Given the description of an element on the screen output the (x, y) to click on. 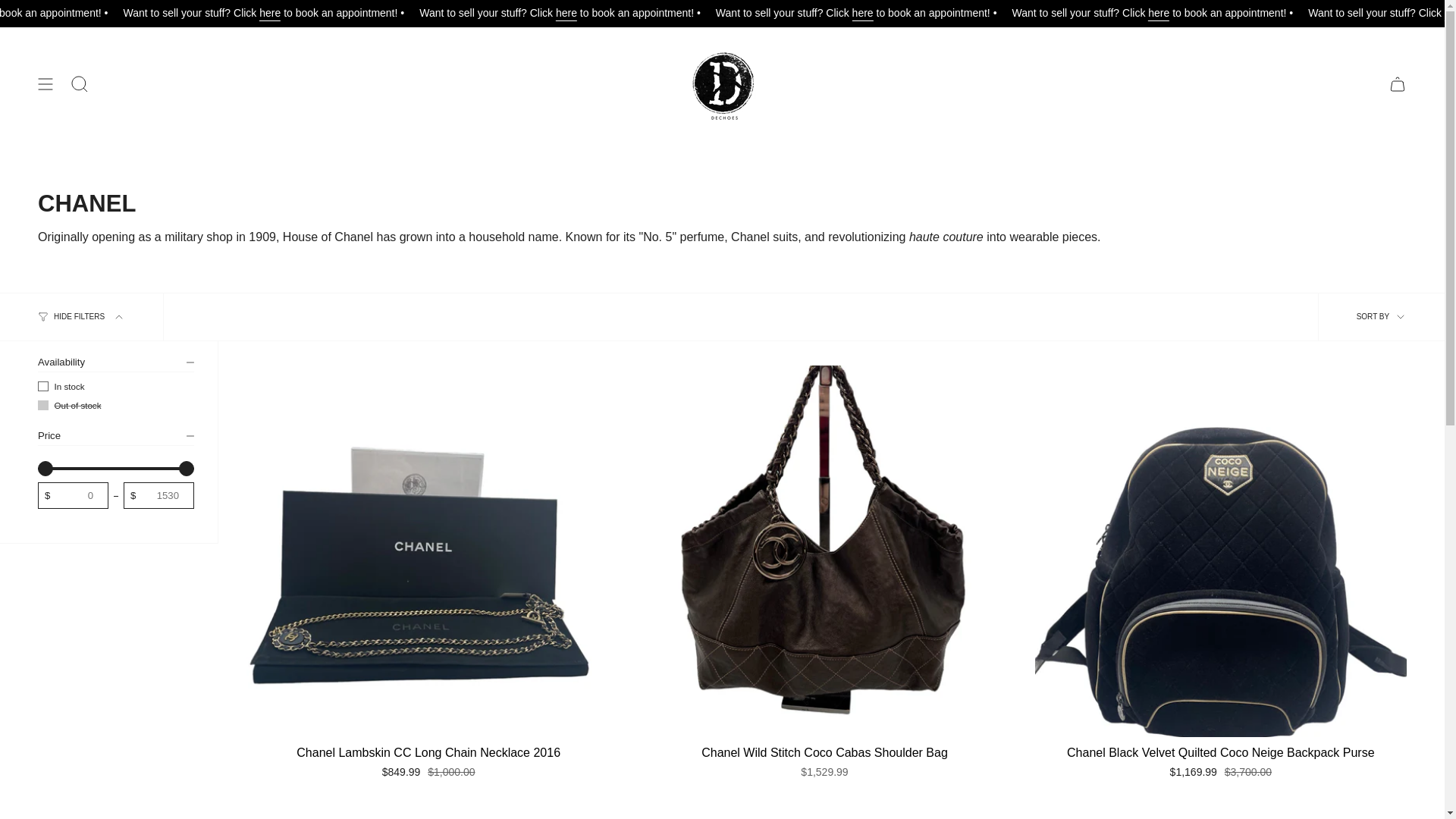
here (1330, 14)
Book Your Selling Appointment (677, 14)
here (150, 14)
Book Your Selling Appointment (1267, 14)
Book Your Selling Appointment (88, 14)
Book Your Selling Appointment (973, 14)
Book Your Selling Appointment (382, 14)
here (1035, 14)
here (740, 14)
here (444, 14)
